Given the description of an element on the screen output the (x, y) to click on. 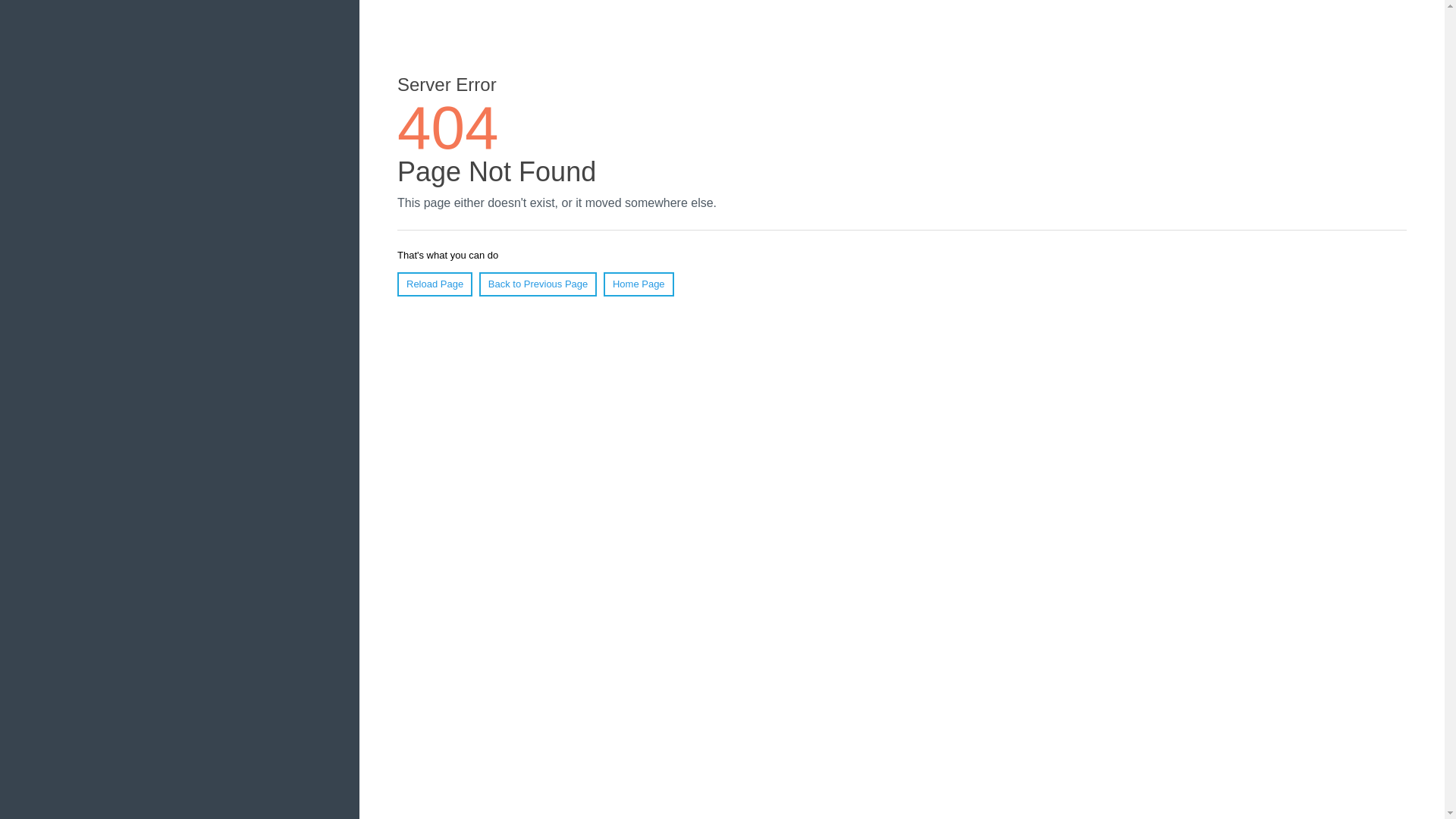
Back to Previous Page Element type: text (538, 284)
Reload Page Element type: text (434, 284)
Home Page Element type: text (638, 284)
